Given the description of an element on the screen output the (x, y) to click on. 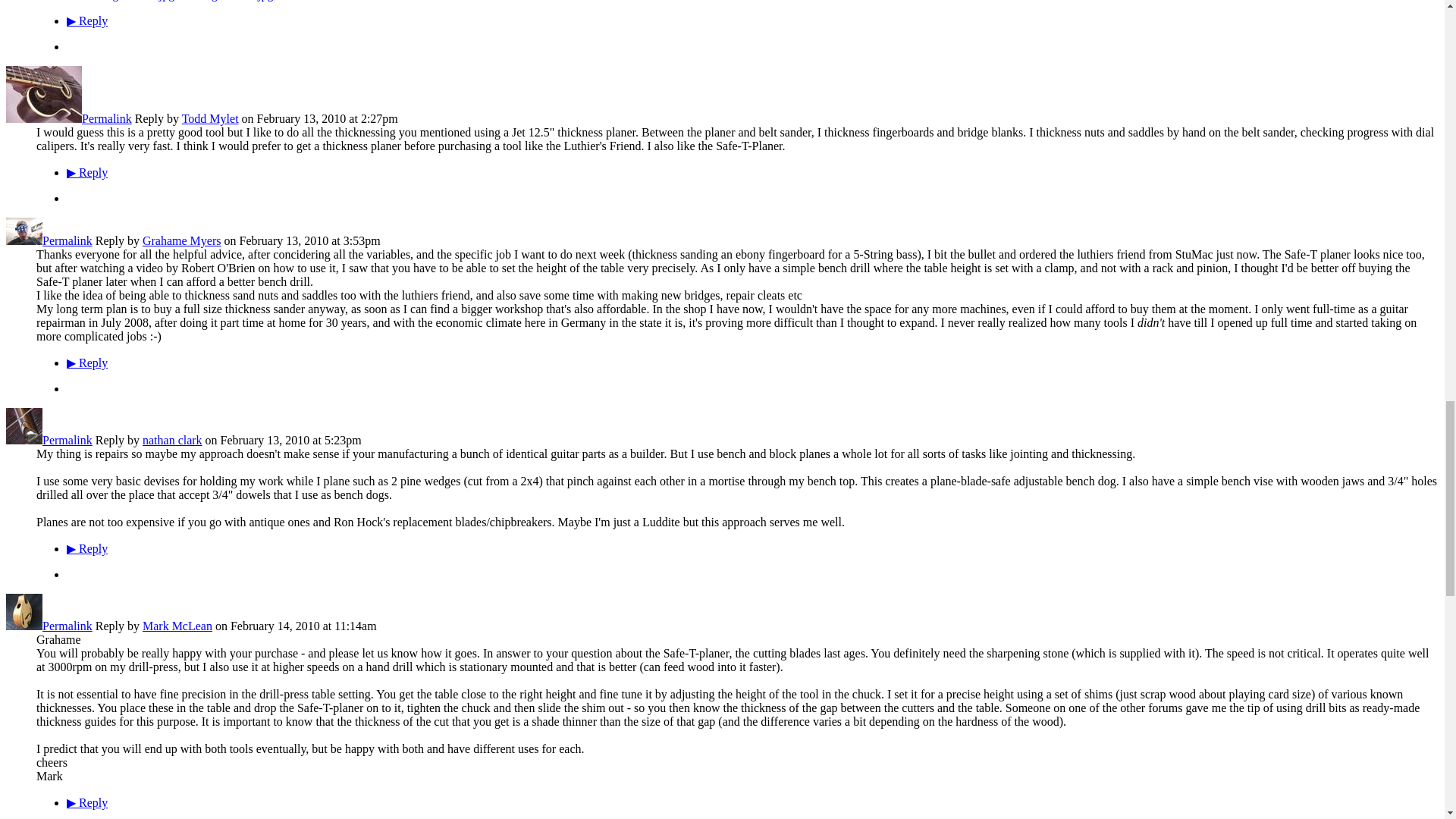
Todd Mylet (43, 118)
Grahame Myers (23, 240)
Permalink to this Reply (67, 240)
Permalink to this Reply (106, 118)
